Given the description of an element on the screen output the (x, y) to click on. 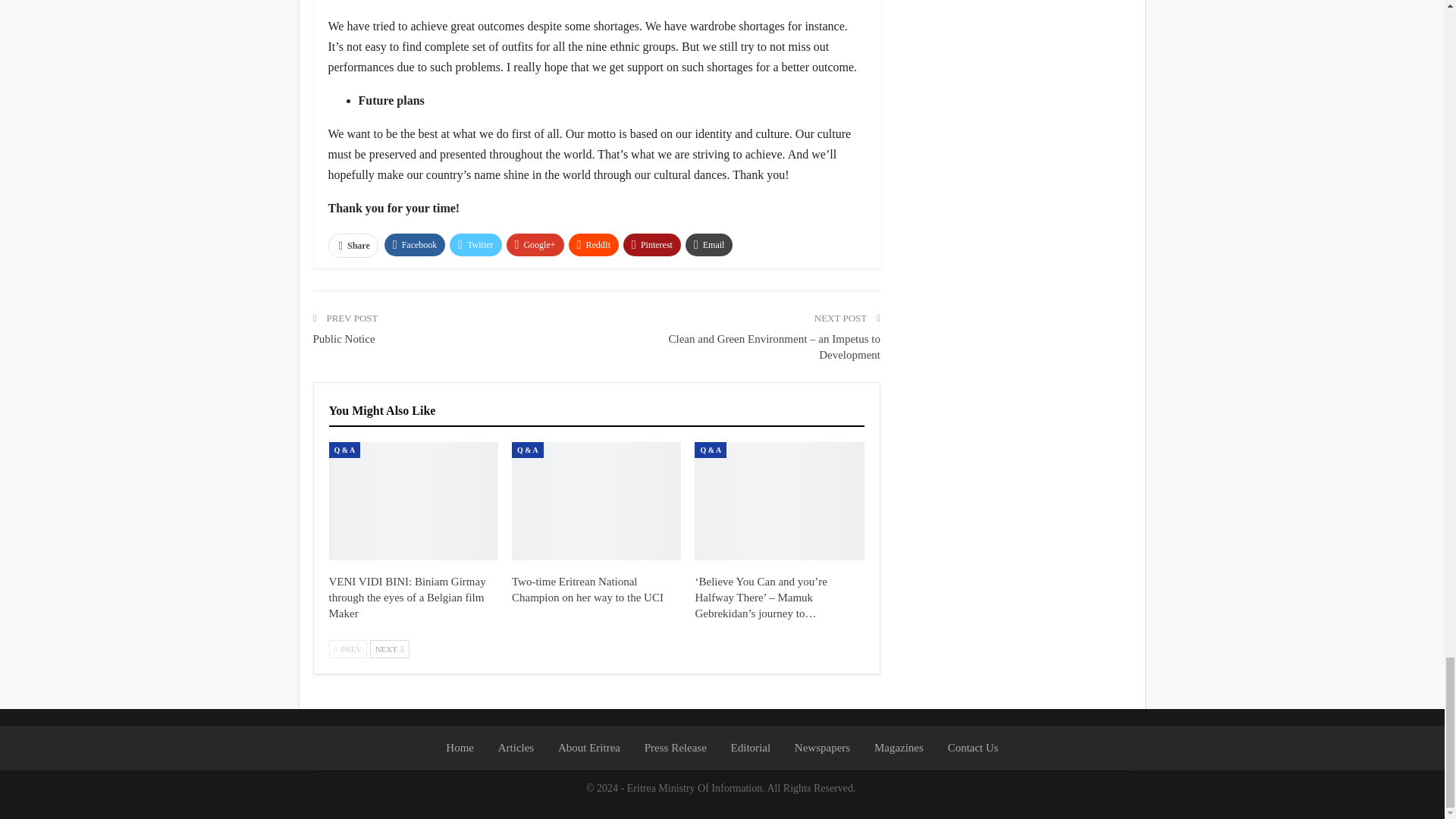
Previous (348, 648)
Two-time Eritrean National  Champion on her way to the UCI (596, 501)
Next (389, 648)
Two-time Eritrean National  Champion on her way to the UCI (587, 589)
